Given the description of an element on the screen output the (x, y) to click on. 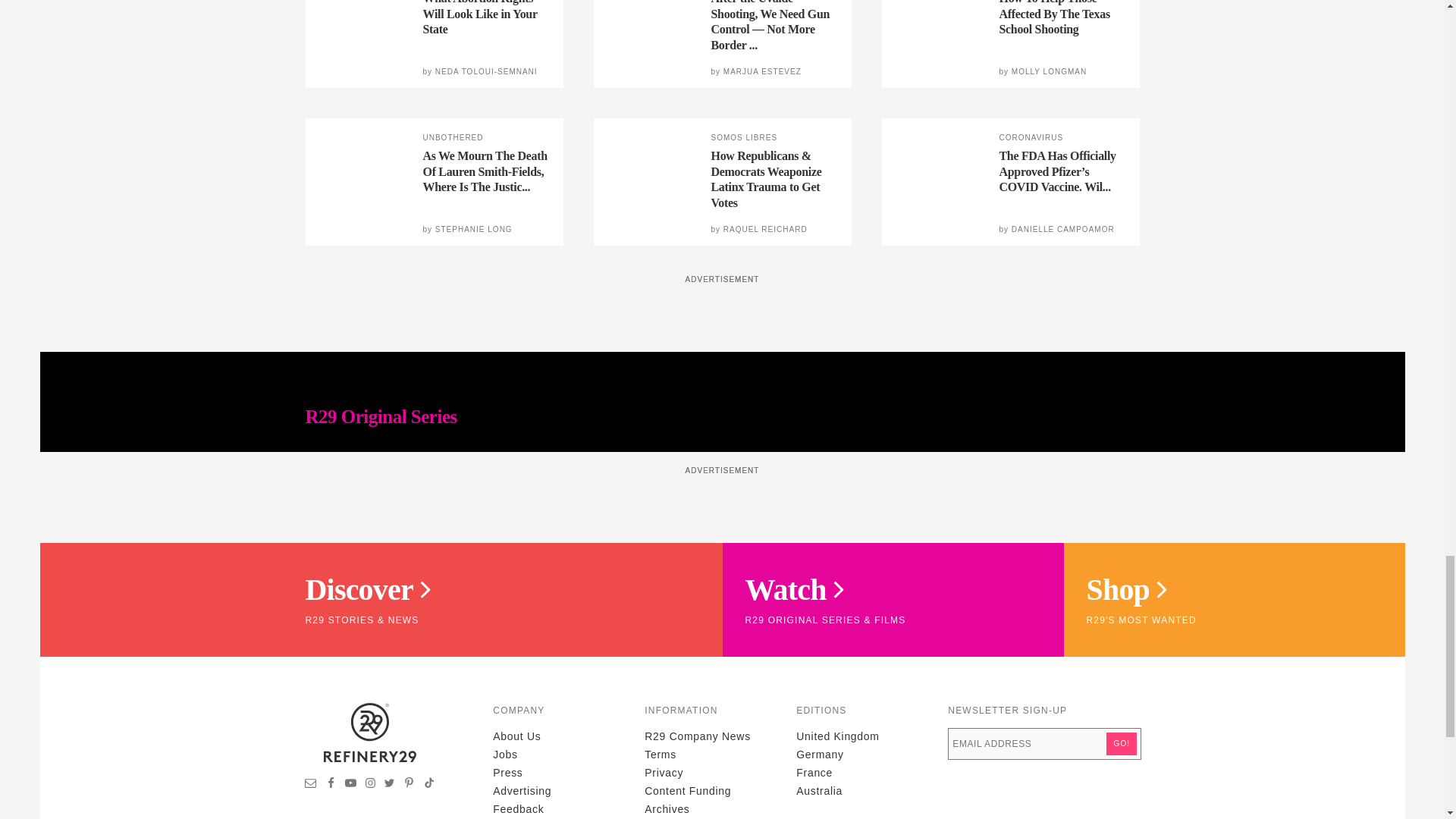
Visit Refinery29 on YouTube (350, 784)
Sign up for newsletters (310, 784)
Visit Refinery29 on TikTok (428, 784)
